Given the description of an element on the screen output the (x, y) to click on. 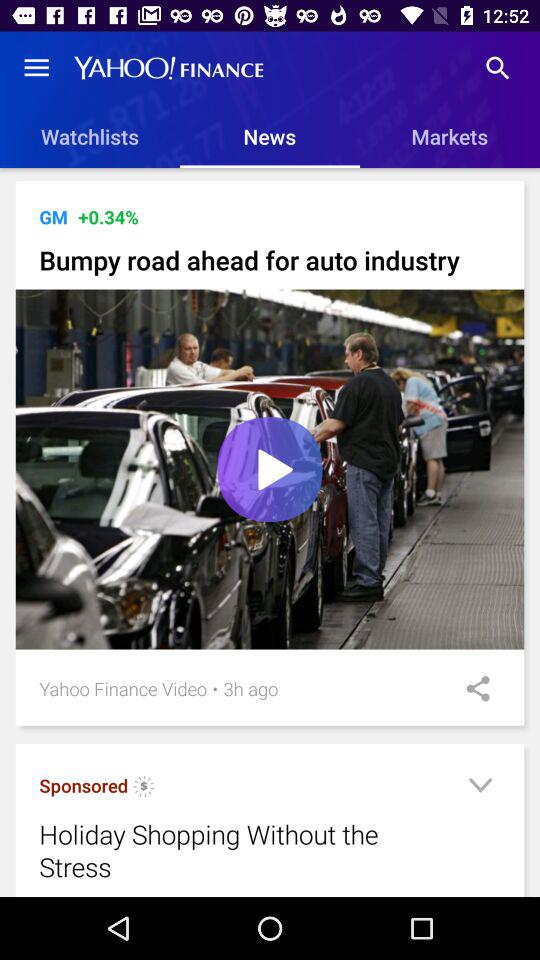
open icon next to 3h ago (471, 688)
